Given the description of an element on the screen output the (x, y) to click on. 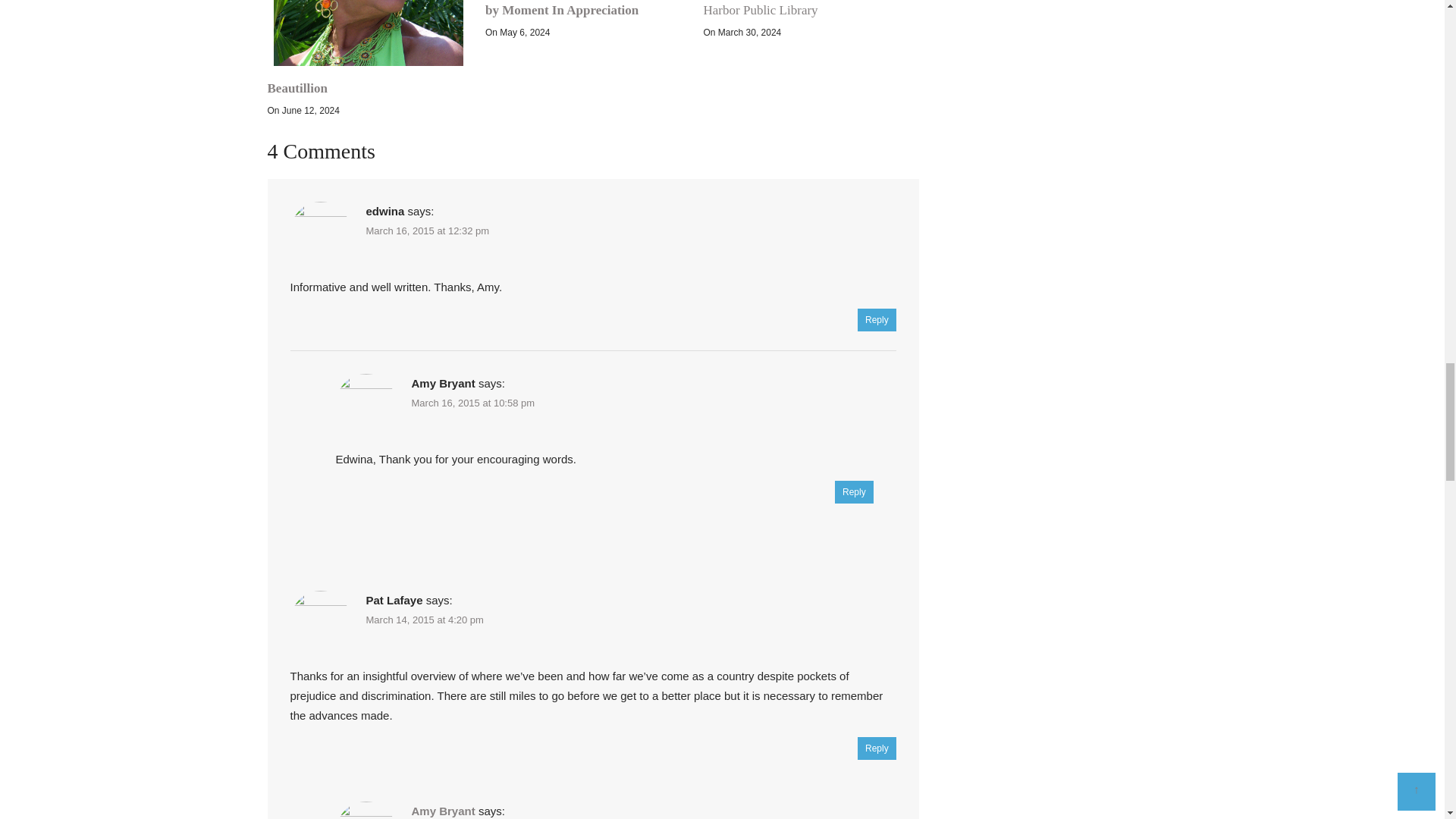
March 16, 2015 at 10:58 pm (472, 402)
Reply (853, 491)
March 14, 2015 at 4:20 pm (424, 619)
Living One Day at a Time: Moment by Moment In Appreciation (582, 8)
Beautillion (296, 88)
March 16, 2015 at 12:32 pm (427, 230)
Reply (876, 748)
Amy Bryant (442, 810)
Reply (876, 319)
New Silent Book Club at Safety Harbor Public Library (786, 8)
